Given the description of an element on the screen output the (x, y) to click on. 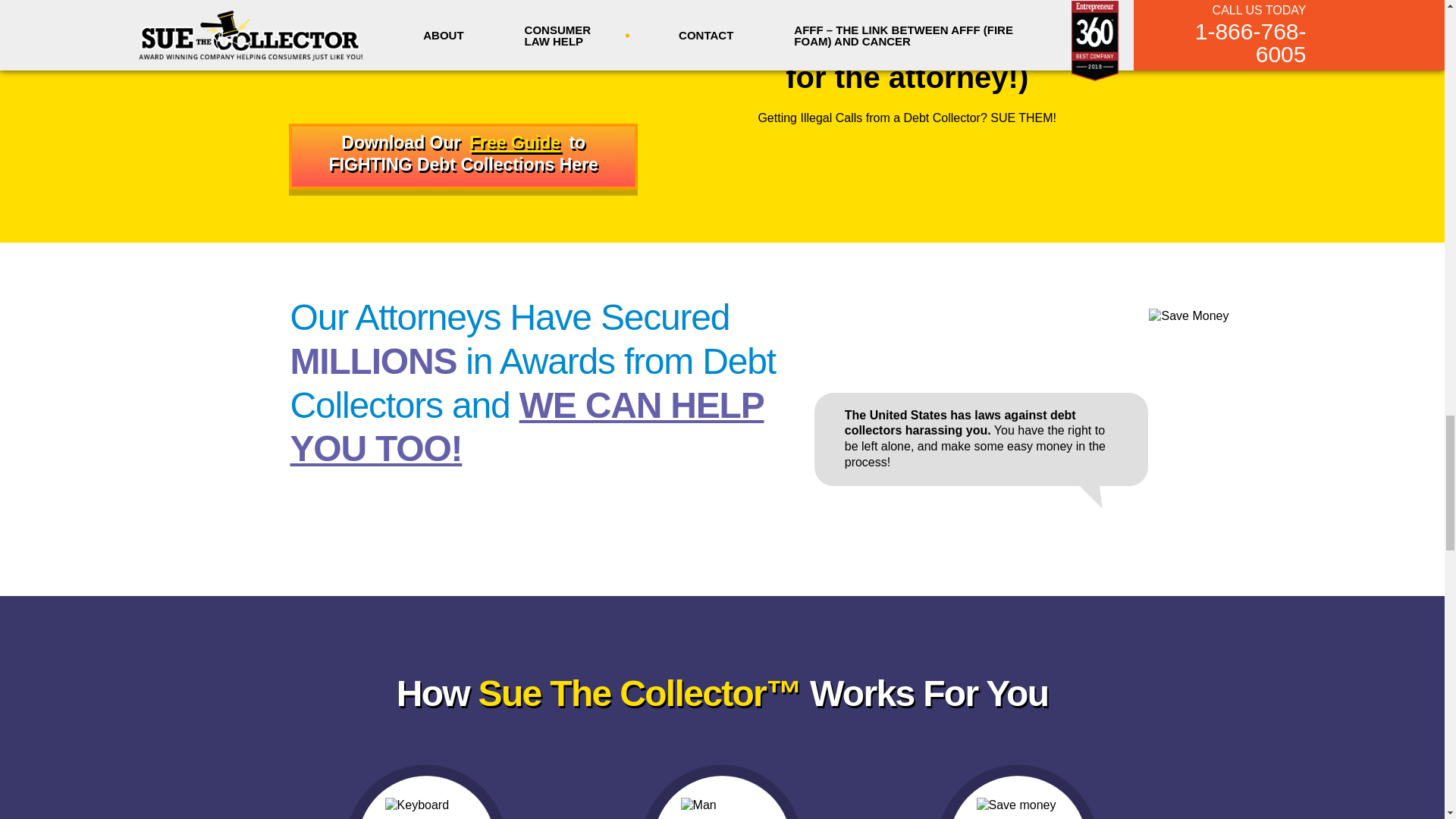
Download Our Free Guide to FIGHTING Debt Collections Here (462, 156)
Contact (462, 156)
Keyboard (426, 808)
Save Money (1017, 808)
Book (463, 99)
Man (722, 808)
